Given the description of an element on the screen output the (x, y) to click on. 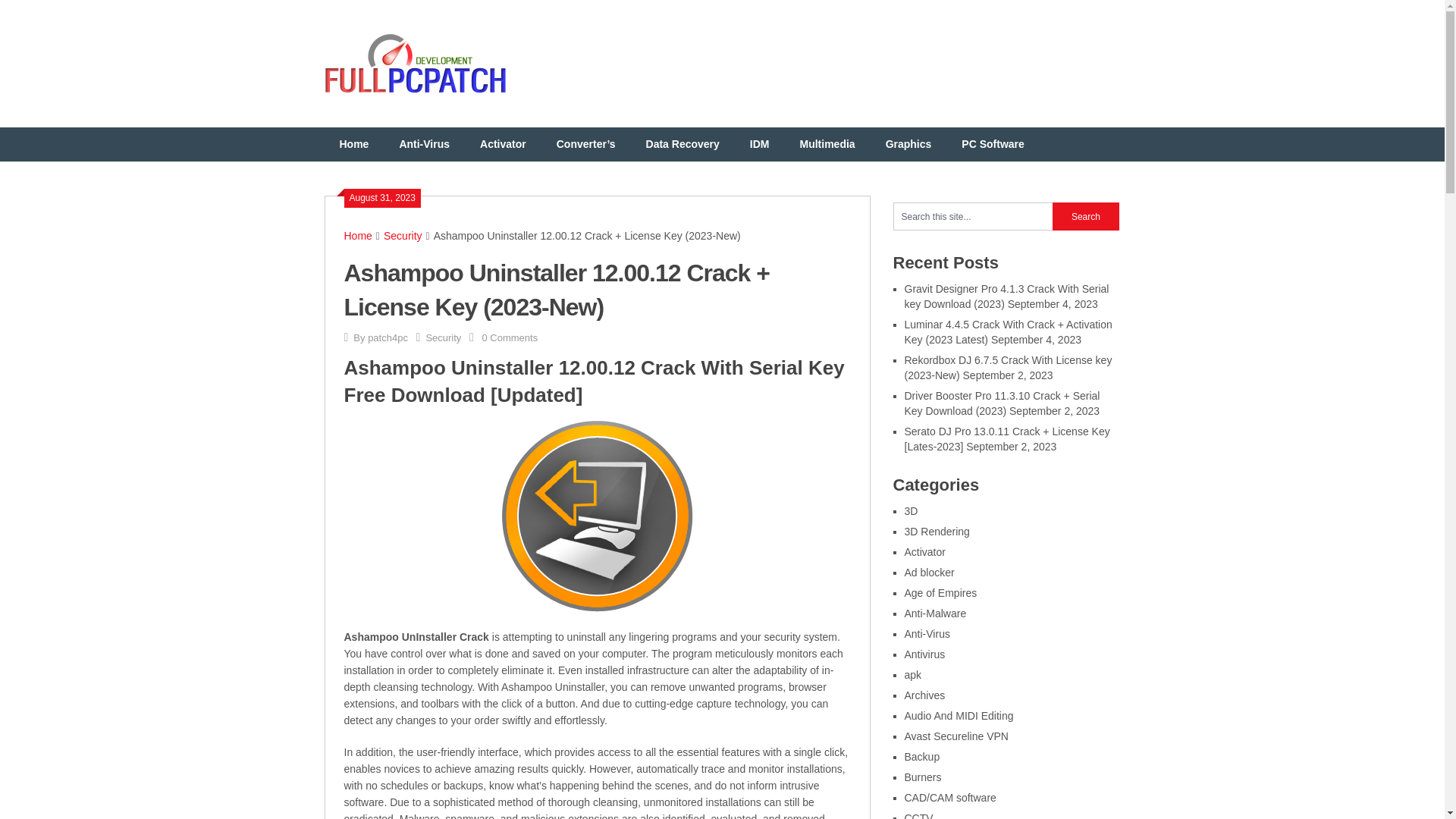
Graphics (908, 144)
Avast Secureline VPN (955, 736)
Activator (924, 551)
Multimedia (826, 144)
Data Recovery (682, 144)
Anti-Malware (935, 613)
Search this site... (972, 216)
Home (357, 235)
PC Software (992, 144)
Search (1085, 216)
Age of Empires (940, 592)
Anti-Virus (926, 633)
Security (403, 235)
Home (354, 144)
Activator (502, 144)
